Given the description of an element on the screen output the (x, y) to click on. 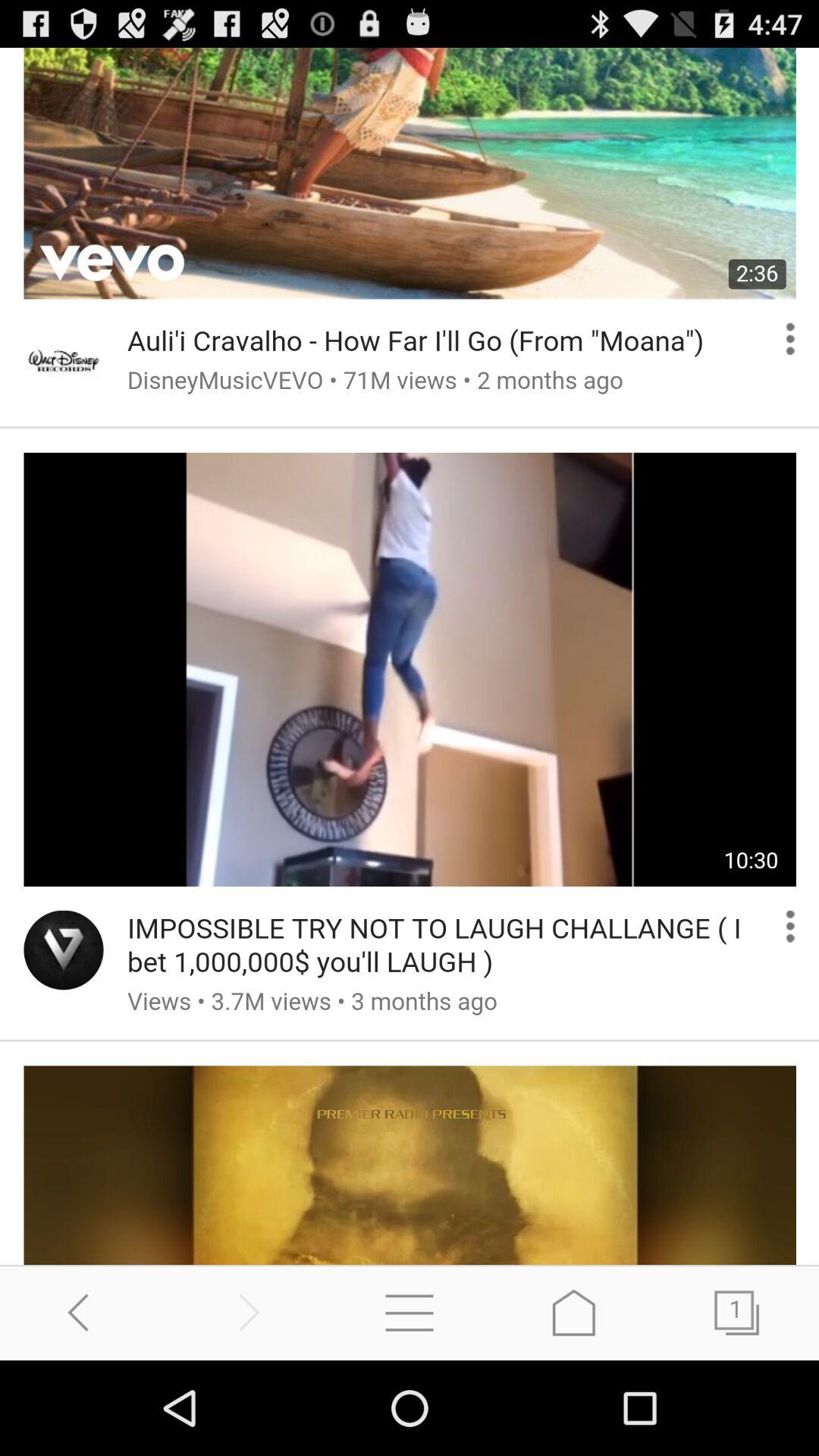
save (573, 1312)
